Given the description of an element on the screen output the (x, y) to click on. 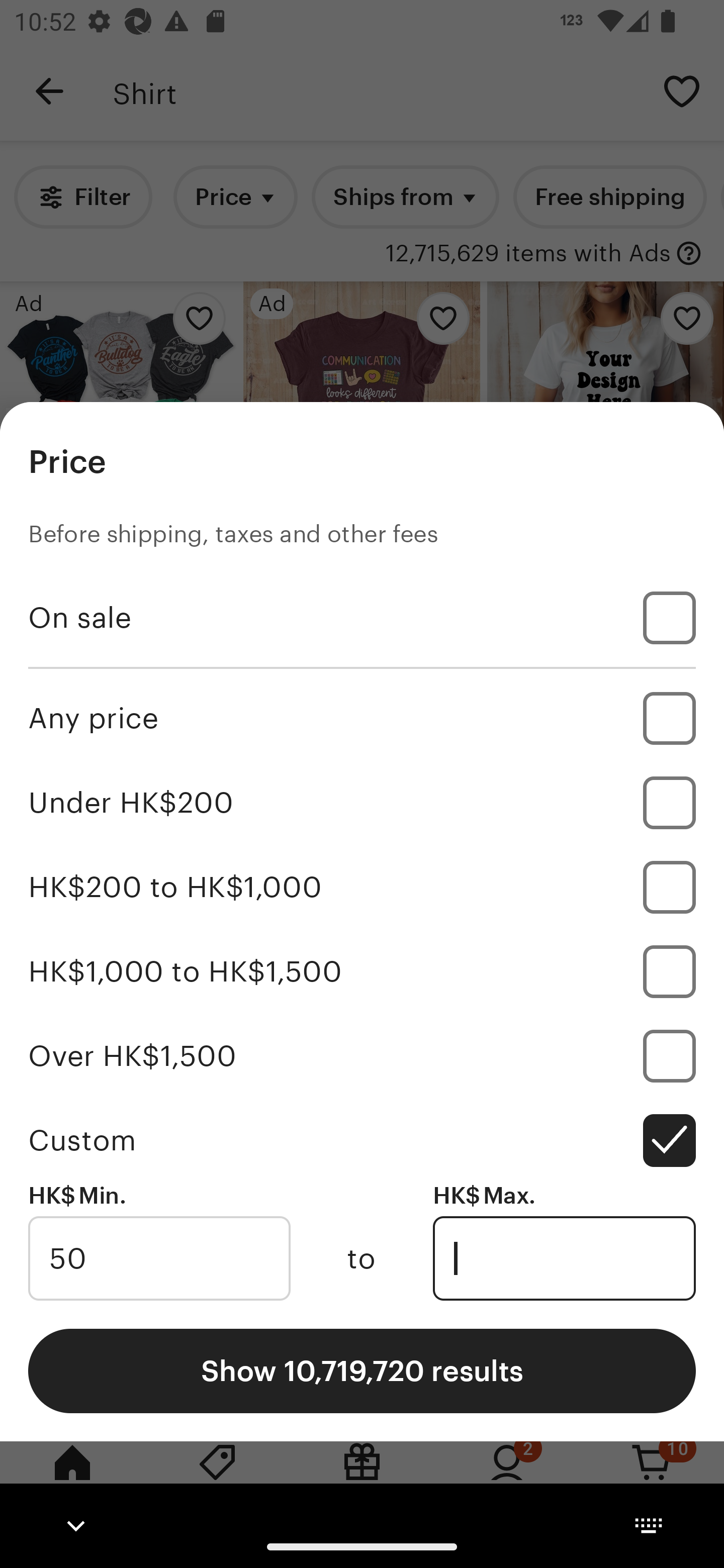
On sale (362, 617)
Any price (362, 717)
Under HK$200 (362, 802)
HK$200 to HK$1,000 (362, 887)
HK$1,000 to HK$1,500 (362, 970)
Over HK$1,500 (362, 1054)
Custom (362, 1139)
50 (159, 1257)
Show 10,719,720 results (361, 1370)
